Given the description of an element on the screen output the (x, y) to click on. 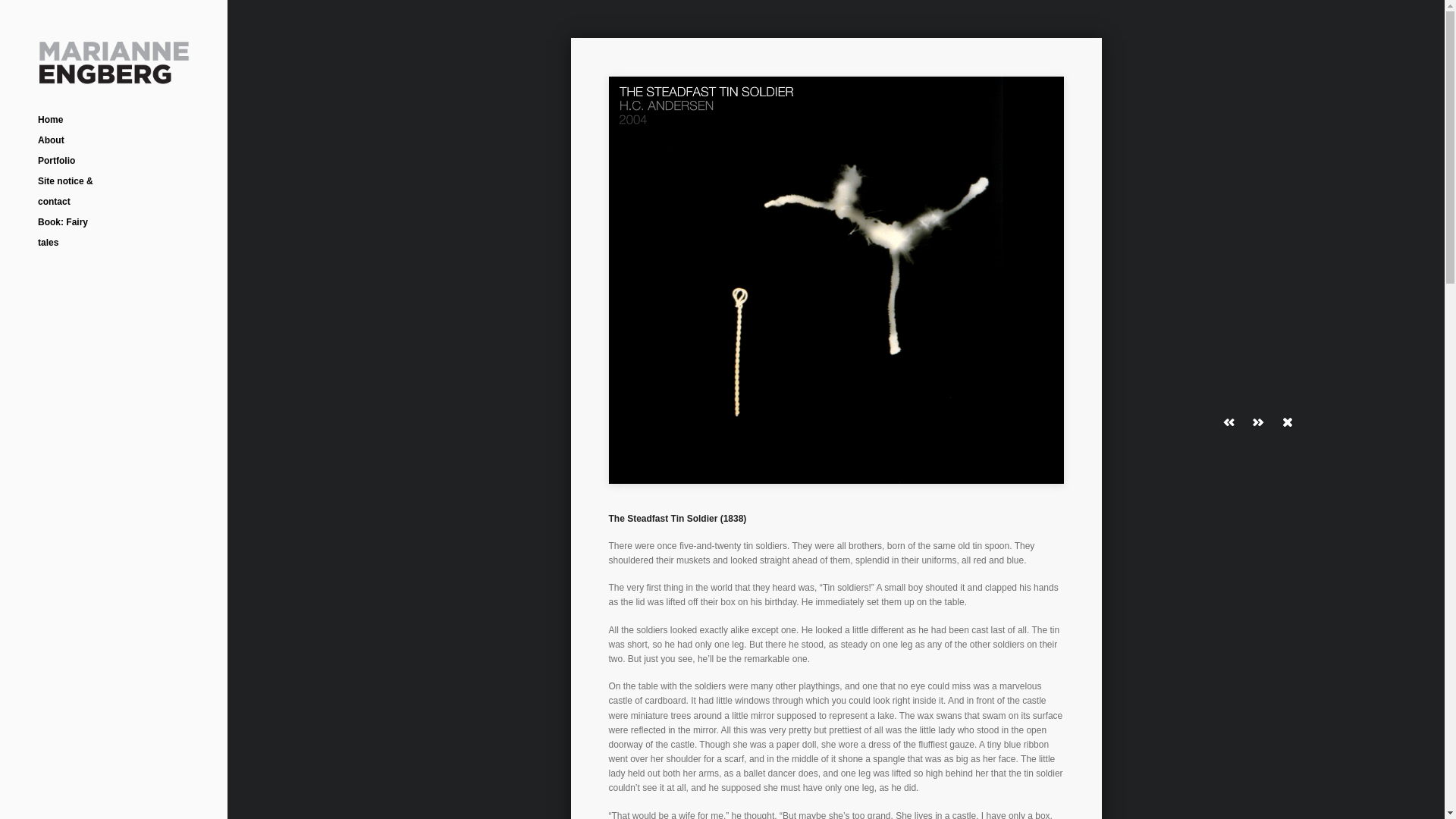
The Teapot (531, 304)
Book: Fairy tales (62, 232)
Pen and Inkstand (1142, 101)
The Butterfly (328, 101)
The Jumpers (328, 304)
Home (49, 119)
Portfolio (56, 160)
Marianne Engberg (113, 76)
The Candles (735, 304)
The Angel (939, 101)
